Given the description of an element on the screen output the (x, y) to click on. 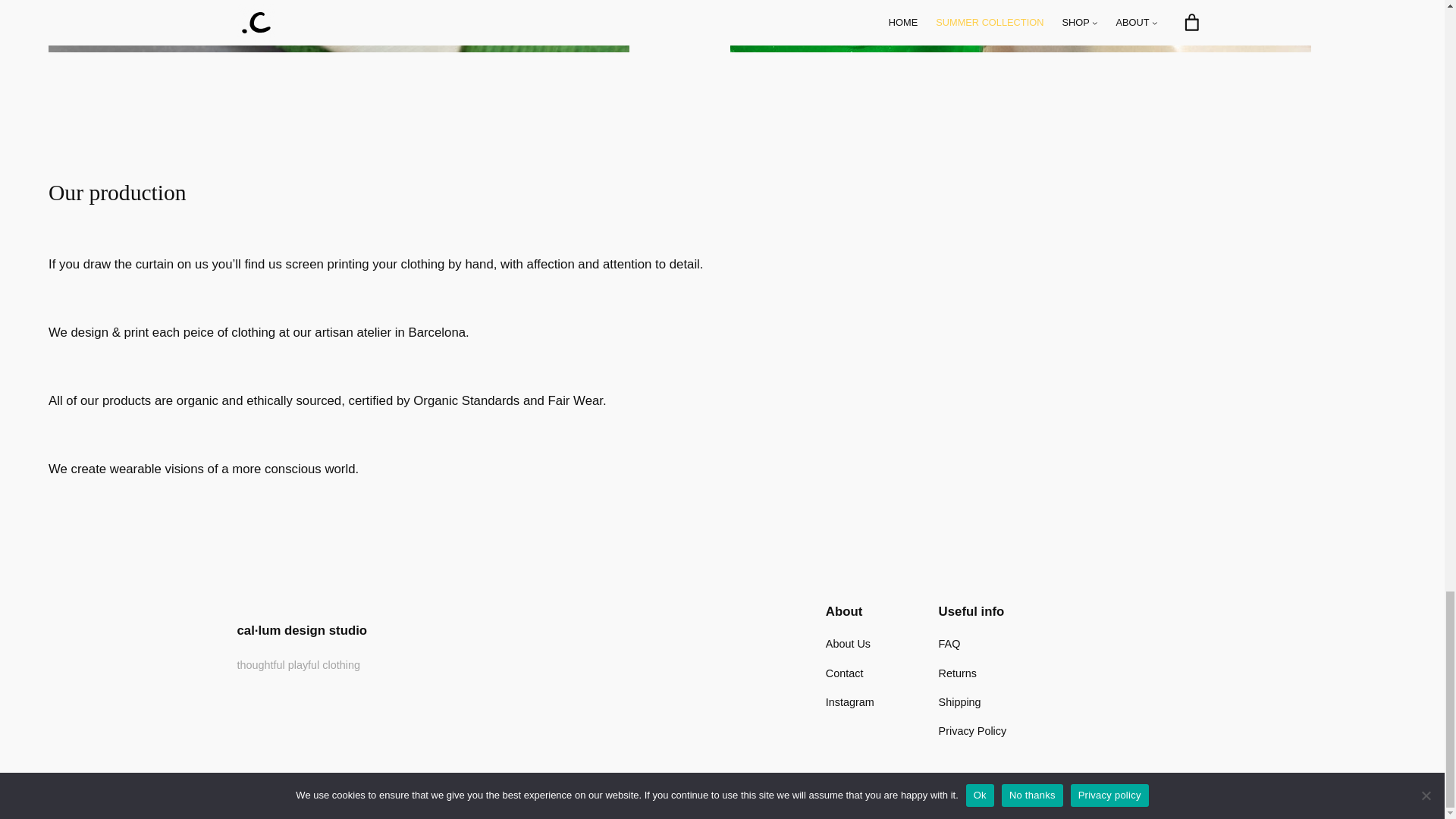
Instagram (850, 701)
Privacy Policy (973, 730)
Contact (844, 673)
About Us (847, 643)
Returns (957, 673)
Shipping (960, 701)
FAQ (949, 643)
